Given the description of an element on the screen output the (x, y) to click on. 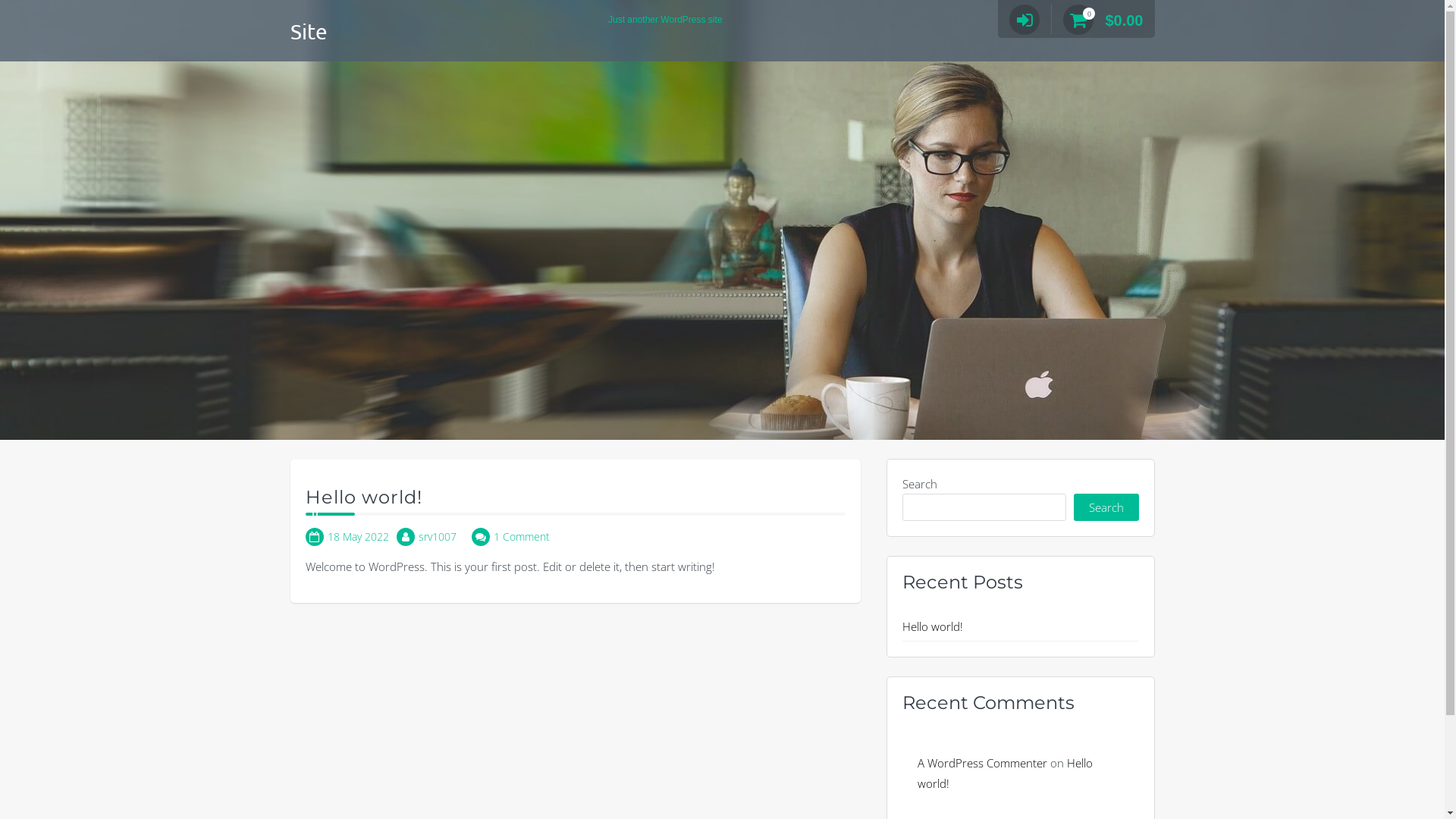
Hello world! Element type: text (932, 625)
0
$0.00 Element type: text (1102, 20)
1 Comment Element type: text (520, 536)
Search Element type: text (1106, 506)
18 May 2022 Element type: text (358, 536)
A WordPress Commenter Element type: text (982, 762)
Login Element type: text (990, 167)
srv1007 Element type: text (437, 536)
Hello world! Element type: text (362, 497)
Site Element type: text (307, 30)
Hello world! Element type: text (1004, 772)
